Given the description of an element on the screen output the (x, y) to click on. 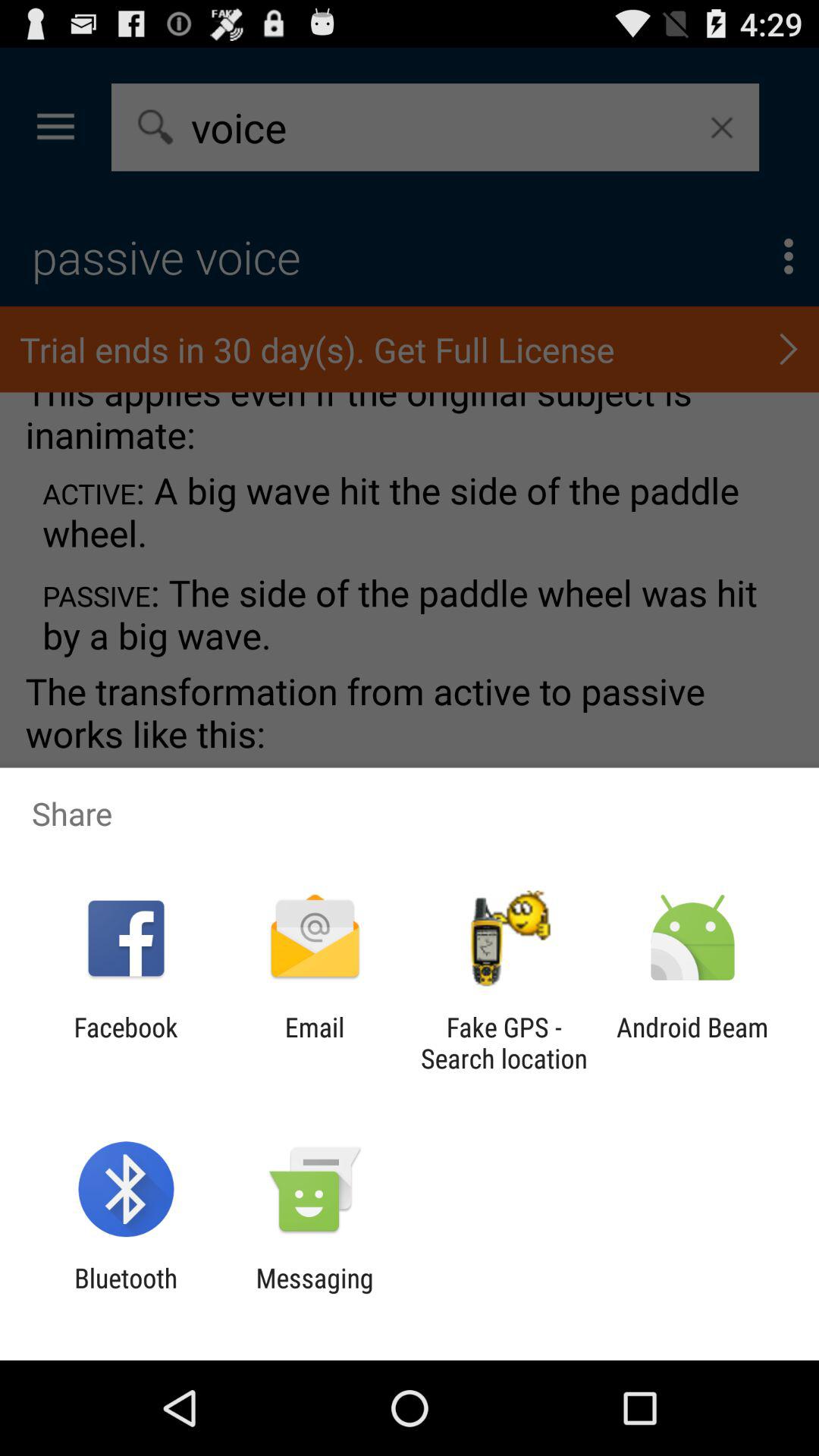
turn off the icon next to android beam item (503, 1042)
